Given the description of an element on the screen output the (x, y) to click on. 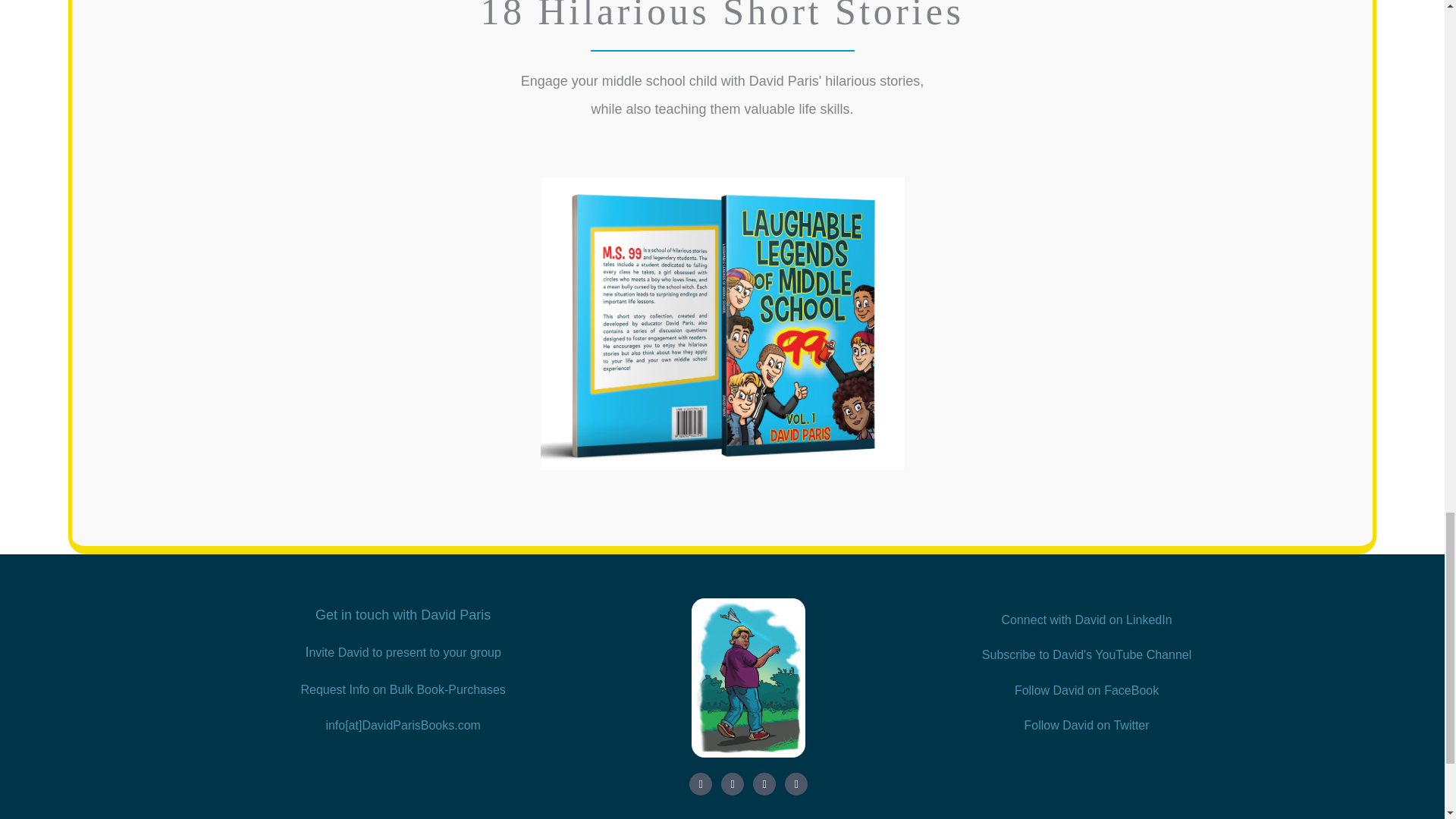
Request Info on Bulk Book-Purchases (402, 689)
Connect with David on LinkedIn (1086, 619)
Get in touch with David Paris (402, 615)
Follow David on Twitter (1085, 725)
LLMS99 Vol1 3D Cover (722, 323)
Subscribe to David's YouTube Channel (1086, 654)
Follow David on FaceBook (1086, 689)
Invite David to present to your group (402, 652)
